Given the description of an element on the screen output the (x, y) to click on. 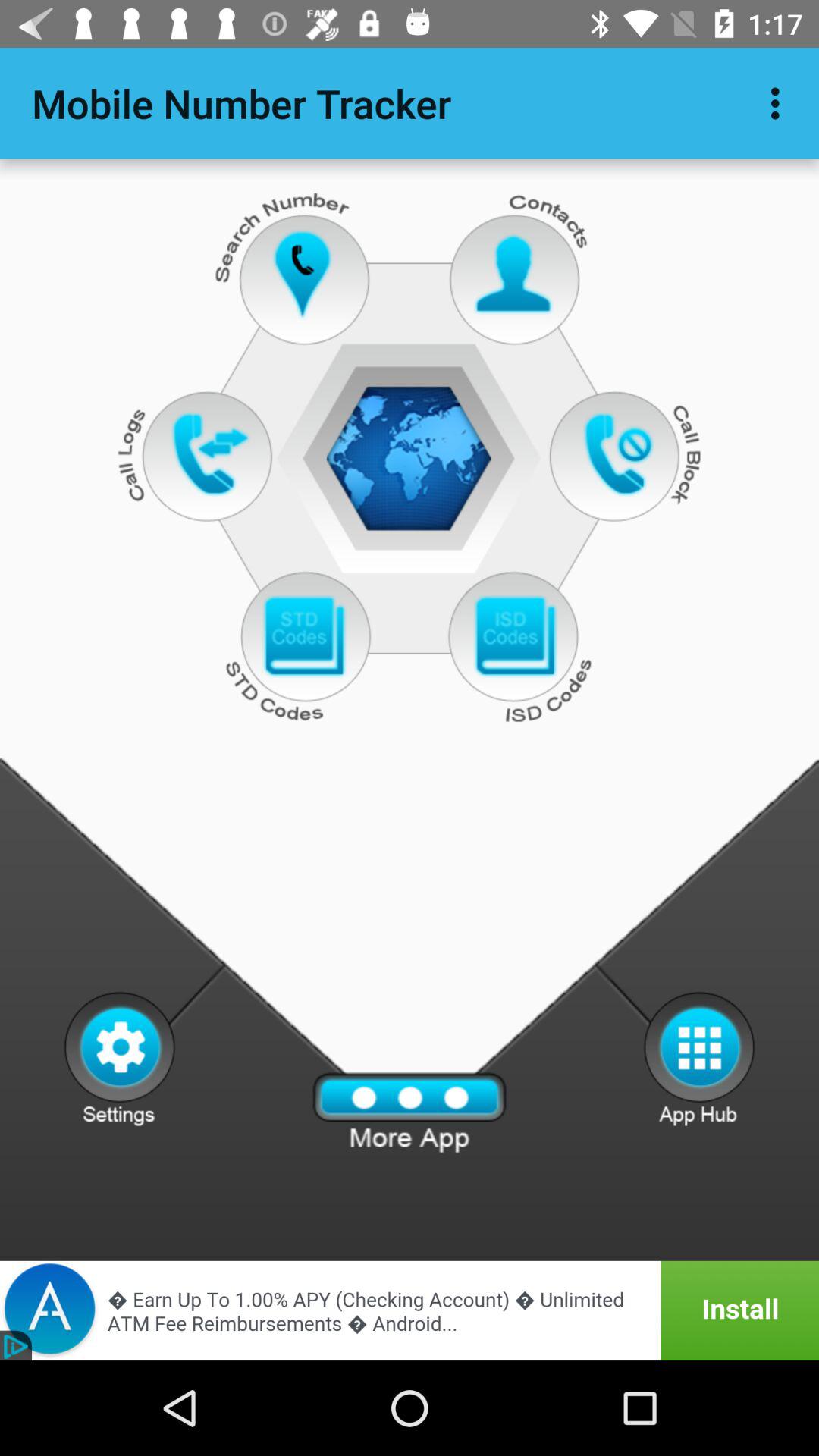
search number (303, 274)
